Given the description of an element on the screen output the (x, y) to click on. 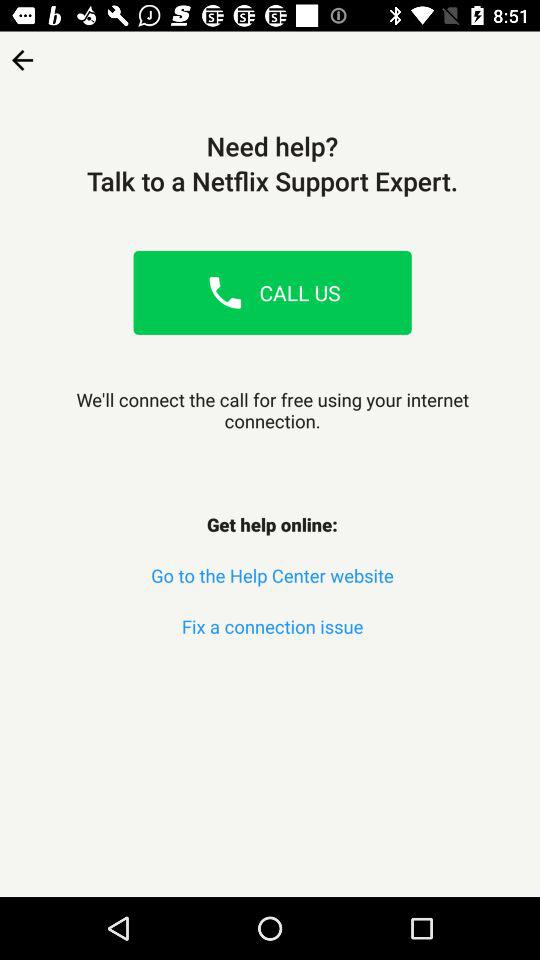
return to previous screen (22, 53)
